Given the description of an element on the screen output the (x, y) to click on. 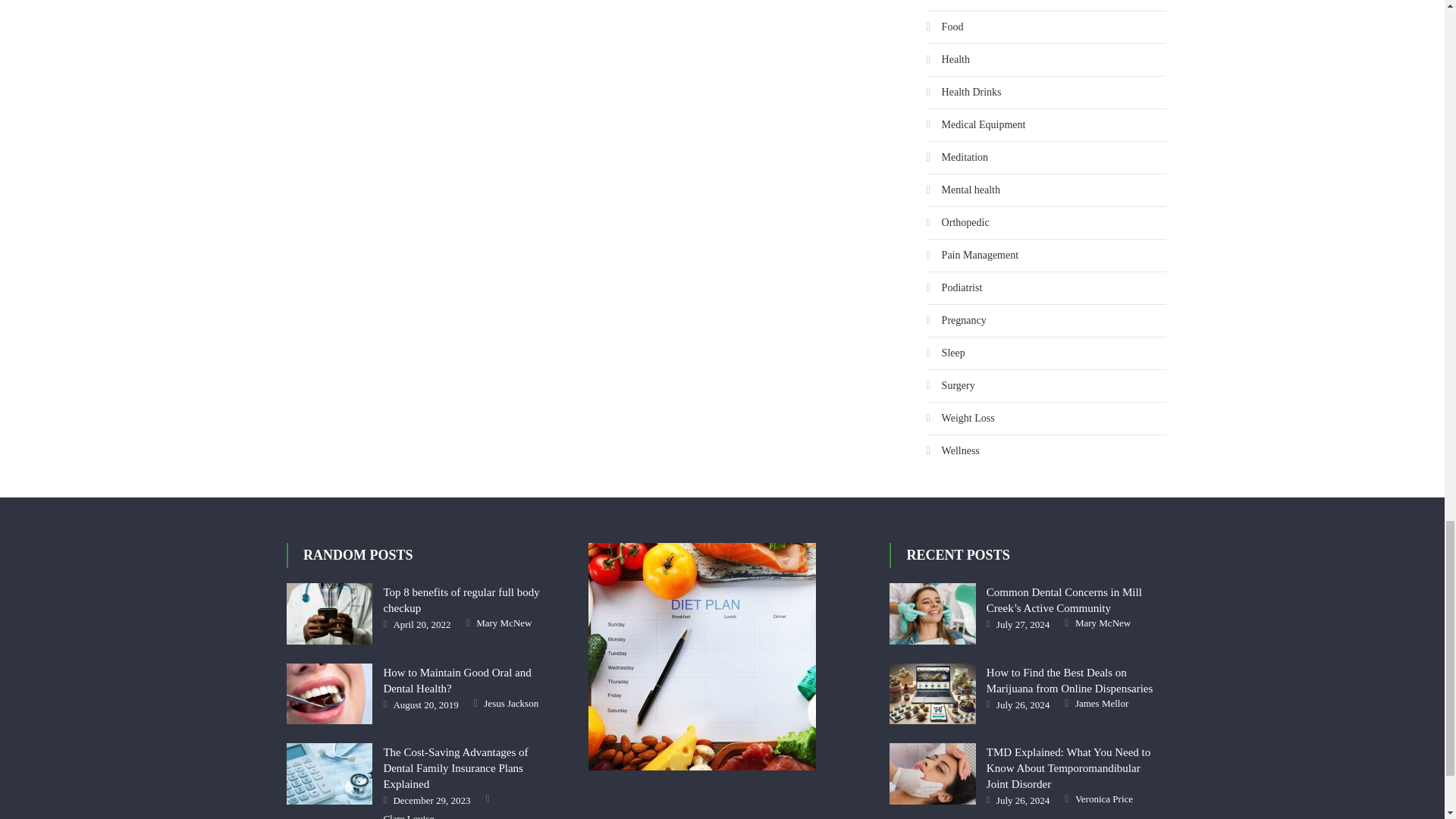
Top 8 benefits of regular full body checkup (329, 613)
How to Maintain Good Oral and Dental Health? (329, 693)
